Given the description of an element on the screen output the (x, y) to click on. 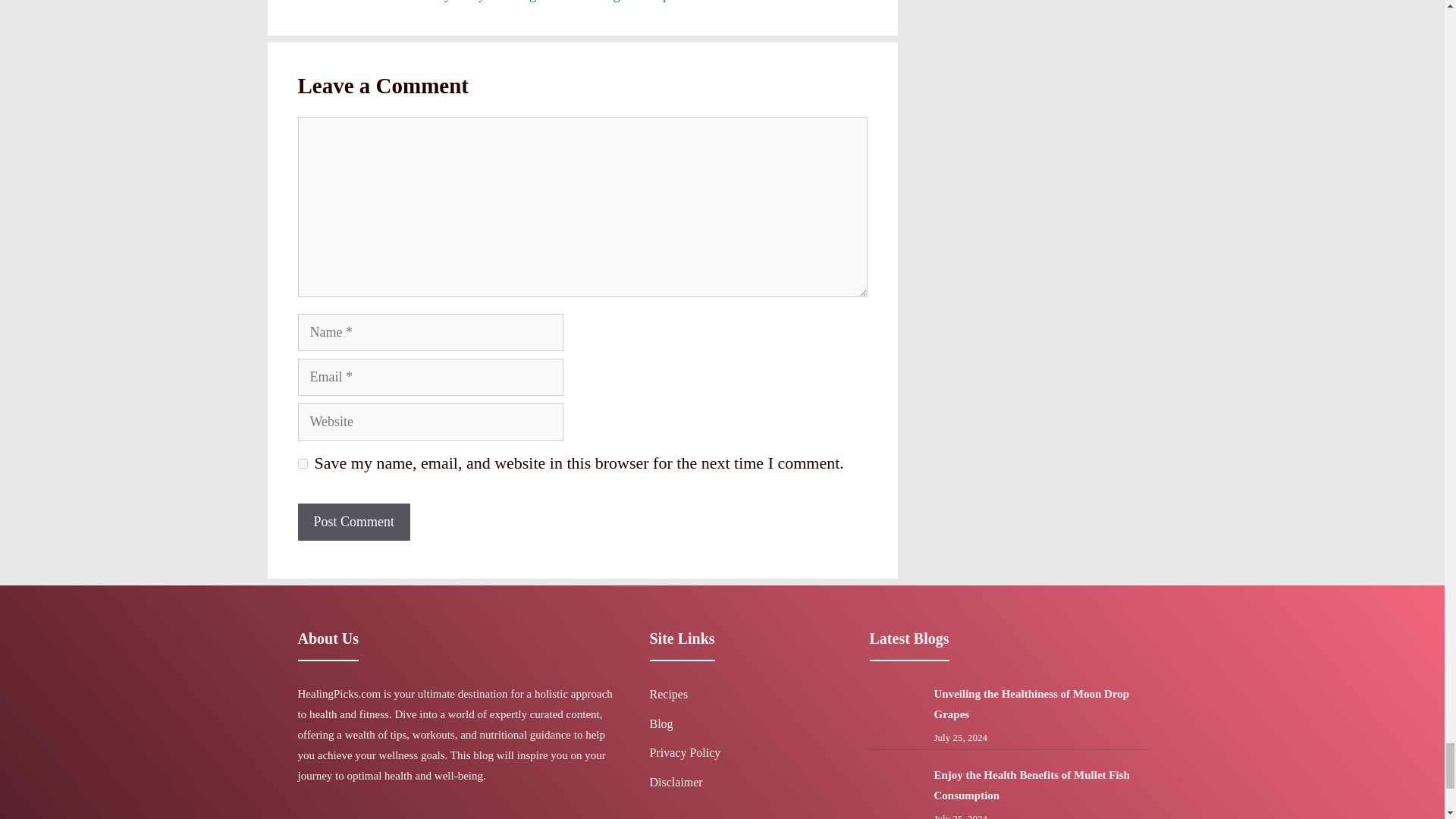
yes (302, 462)
Post Comment (353, 521)
